Given the description of an element on the screen output the (x, y) to click on. 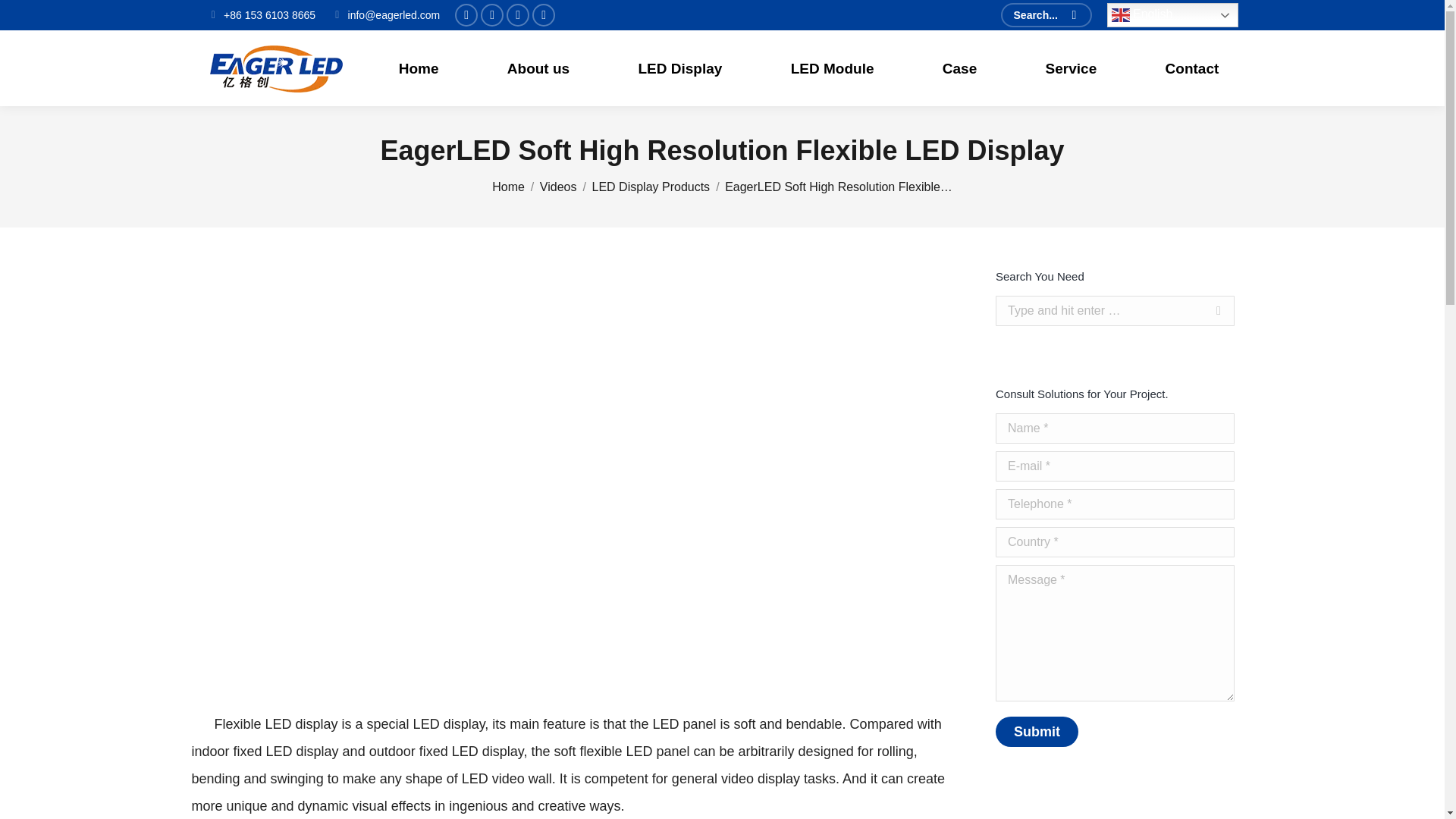
YouTube page opens in new window (465, 15)
submit (1102, 733)
YouTube page opens in new window (465, 15)
Whatsapp page opens in new window (543, 15)
Linkedin page opens in new window (517, 15)
English (1172, 15)
Whatsapp page opens in new window (543, 15)
Search form (1046, 15)
Linkedin page opens in new window (517, 15)
Facebook page opens in new window (491, 15)
